Given the description of an element on the screen output the (x, y) to click on. 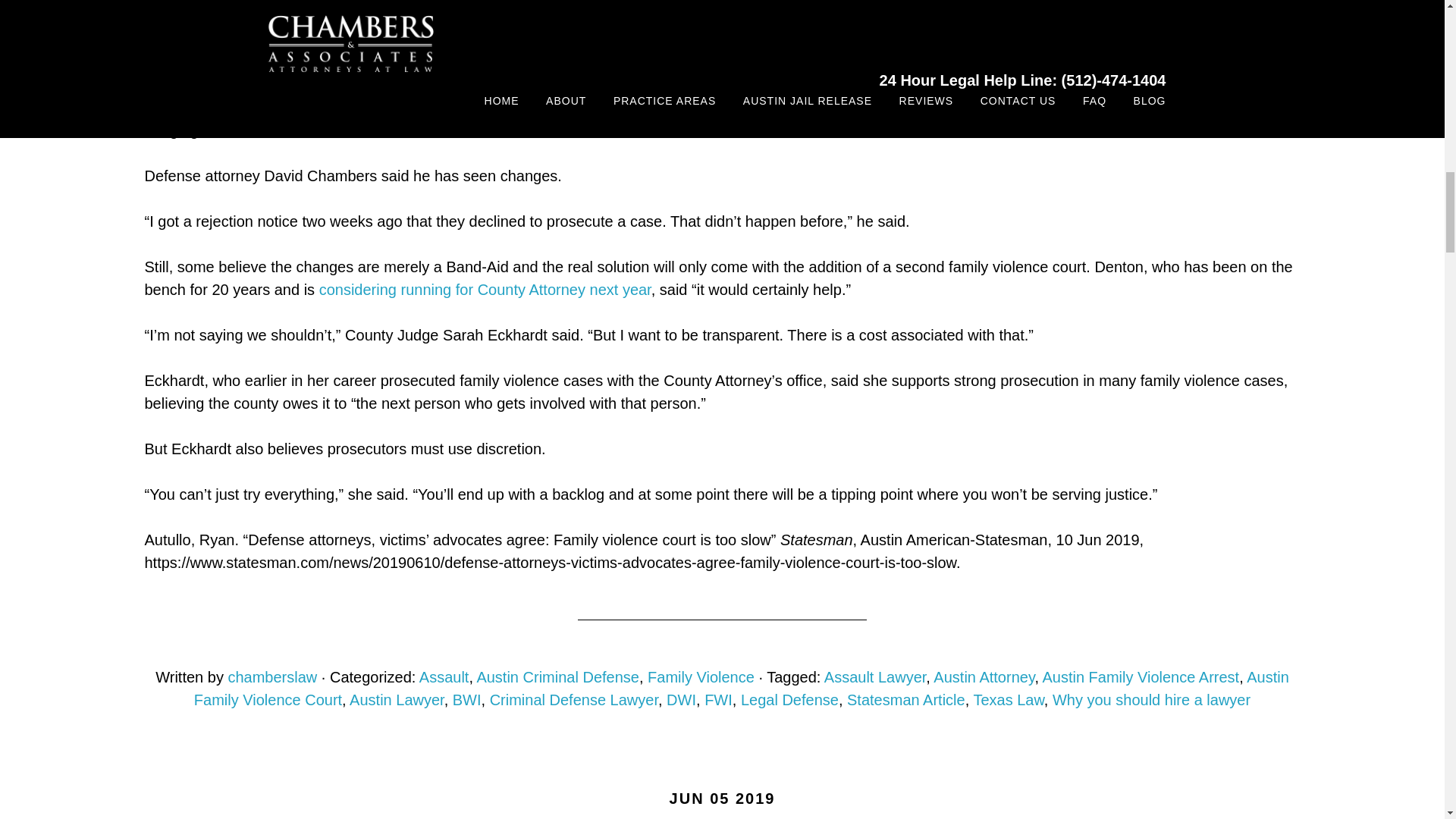
Assault Lawyer (875, 677)
Criminal Defense Lawyer (573, 699)
Austin Lawyer (396, 699)
Austin Family Violence Arrest (1140, 677)
Austin Family Violence Court (740, 688)
Austin Attorney (983, 677)
FWI (718, 699)
DWI (680, 699)
Family Violence (700, 677)
considering running for County Attorney next year (484, 289)
chamberslaw (272, 677)
BWI (466, 699)
Austin Criminal Defense (557, 677)
Assault (443, 677)
